Given the description of an element on the screen output the (x, y) to click on. 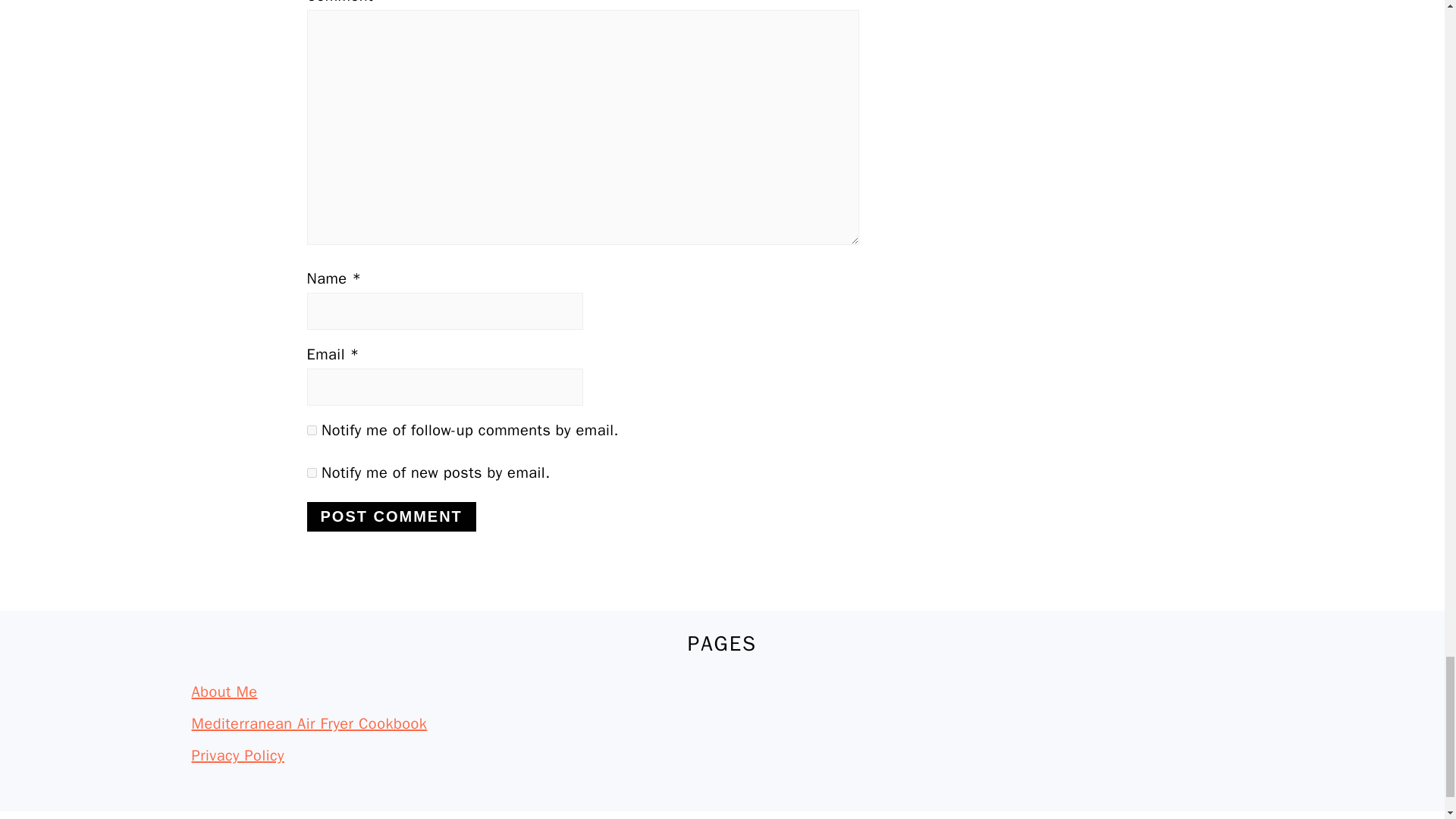
subscribe (310, 429)
subscribe (310, 472)
Post Comment (390, 516)
